Given the description of an element on the screen output the (x, y) to click on. 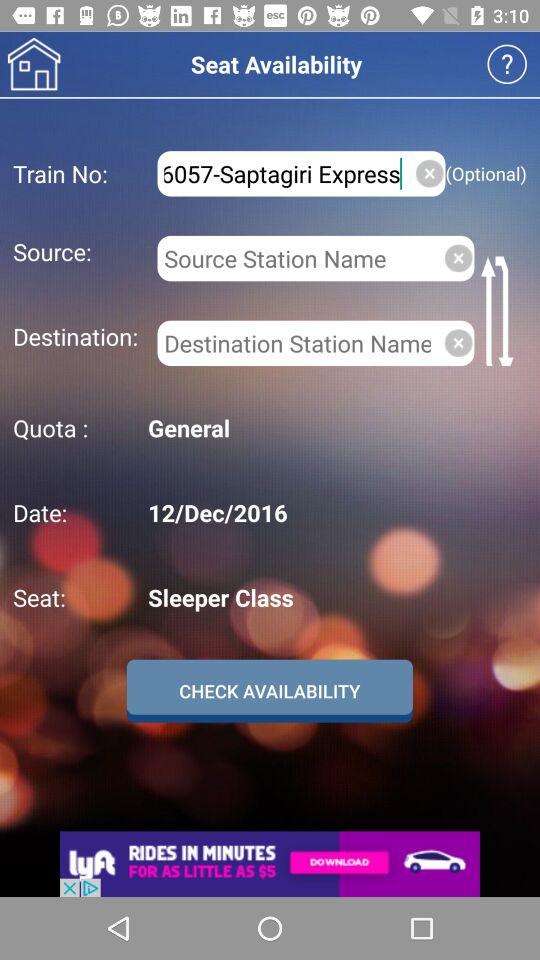
receive info on page (506, 64)
